Given the description of an element on the screen output the (x, y) to click on. 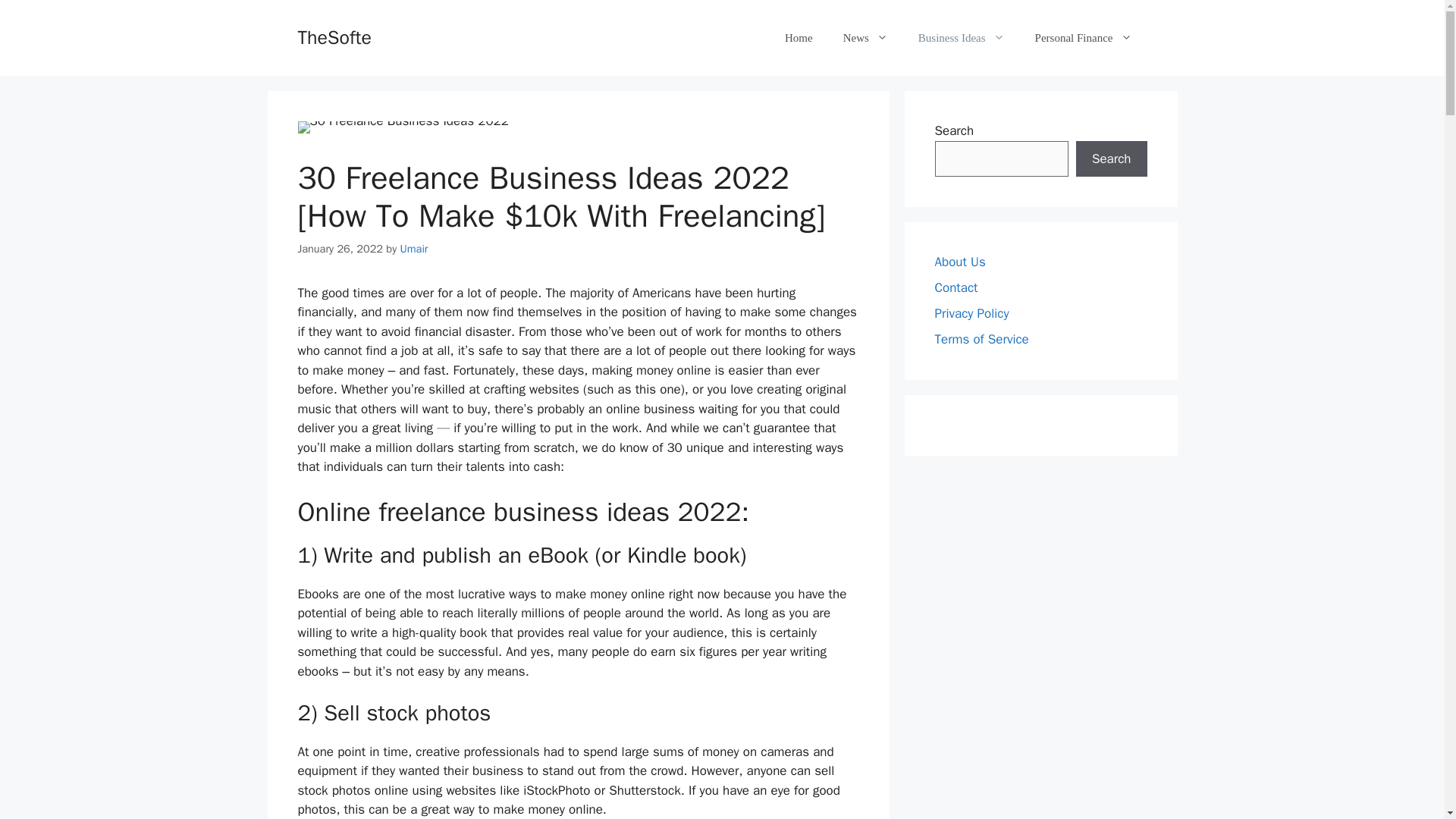
View all posts by Umair (414, 248)
Business Ideas (961, 37)
Personal Finance (1083, 37)
News (865, 37)
Search (1111, 158)
Home (799, 37)
TheSofte (334, 37)
About Us (959, 261)
Umair (414, 248)
